Given the description of an element on the screen output the (x, y) to click on. 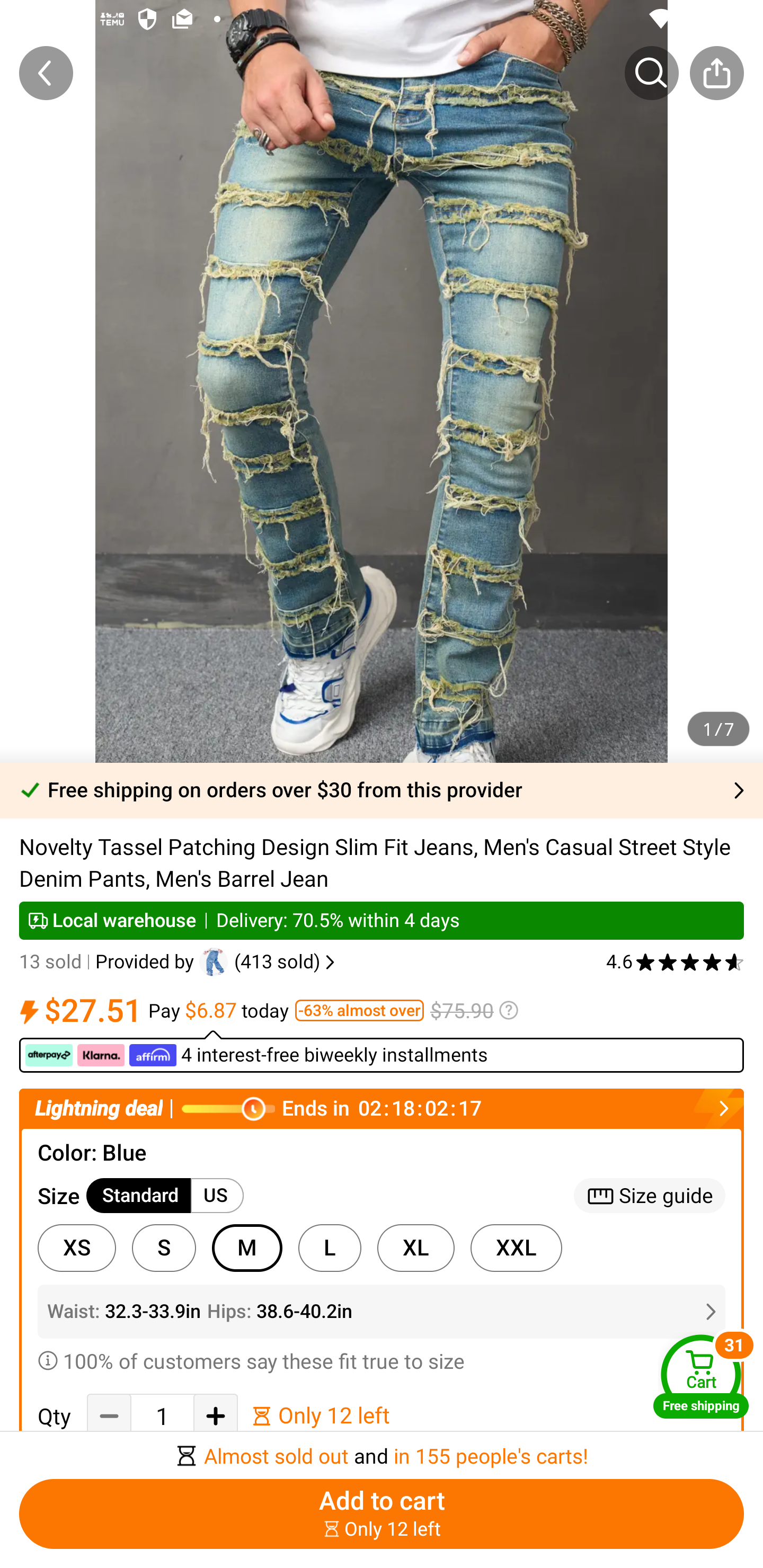
Back (46, 72)
Share (716, 72)
Local warehouse Delivery: 70.5% within 4 days (381, 920)
13 sold Provided by  (109, 961)
4.6 (674, 961)
￼ ￼ ￼ 4 interest-free biweekly installments (381, 1051)
Lightning deal Ends in￼￼ (381, 1108)
Standard (138, 1195)
US (216, 1195)
 Size guide (649, 1195)
XS (76, 1247)
S (163, 1247)
M (247, 1247)
L (329, 1247)
XL (415, 1247)
XXL (516, 1247)
Waist: 32.3-33.9in￼Hips: 38.6-40.2in￼ (381, 1311)
Cart Free shipping Cart (701, 1375)
  100% of customers say these fit true to size (381, 1360)
Decrease Quantity Button (108, 1415)
Add Quantity button (215, 1415)
1 (162, 1416)
￼￼Almost sold out and in 155 people's carts! (381, 1450)
Add to cart ￼￼Only 12 left (381, 1513)
